Given the description of an element on the screen output the (x, y) to click on. 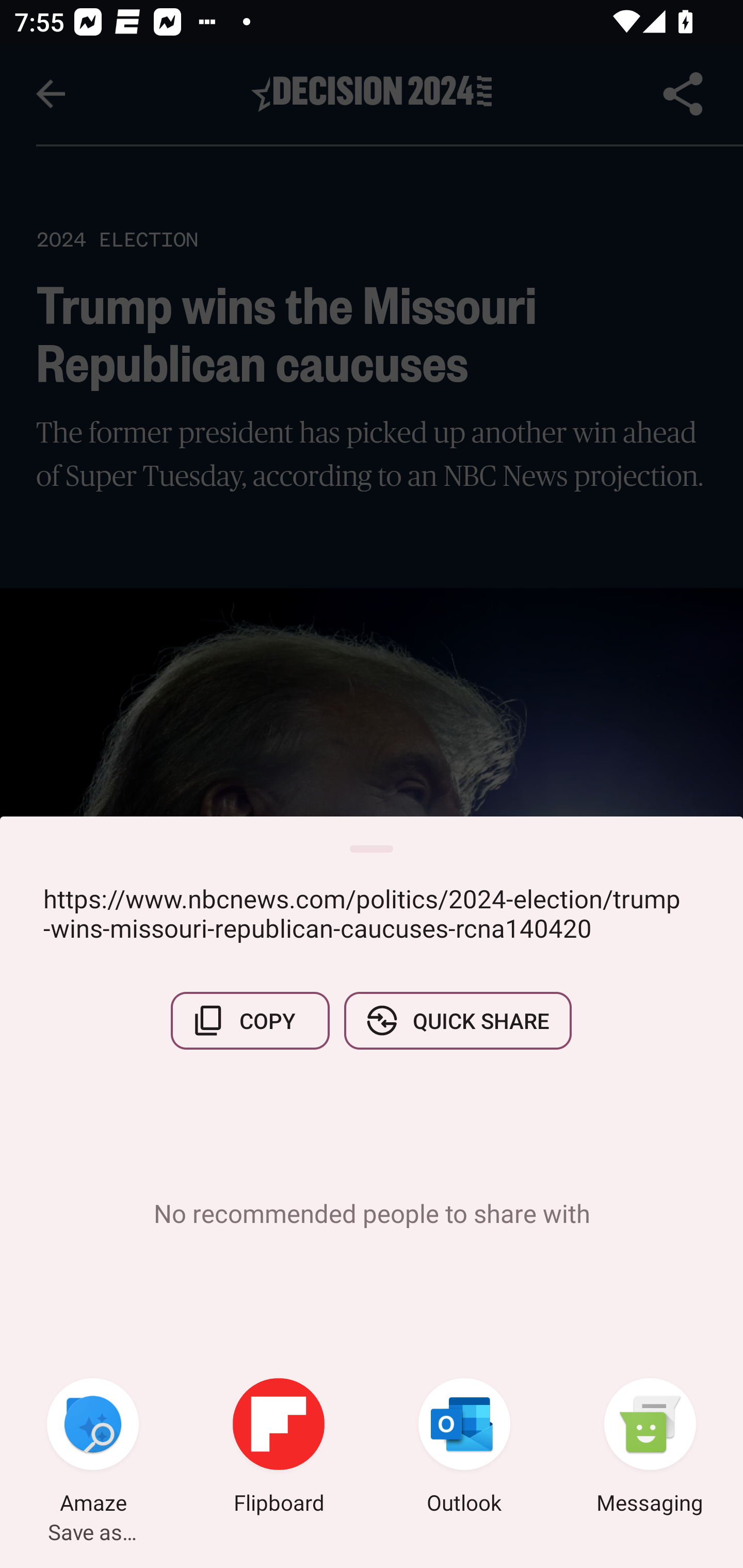
COPY (249, 1020)
QUICK SHARE (457, 1020)
Amaze Save as… (92, 1448)
Flipboard (278, 1448)
Outlook (464, 1448)
Messaging (650, 1448)
